Given the description of an element on the screen output the (x, y) to click on. 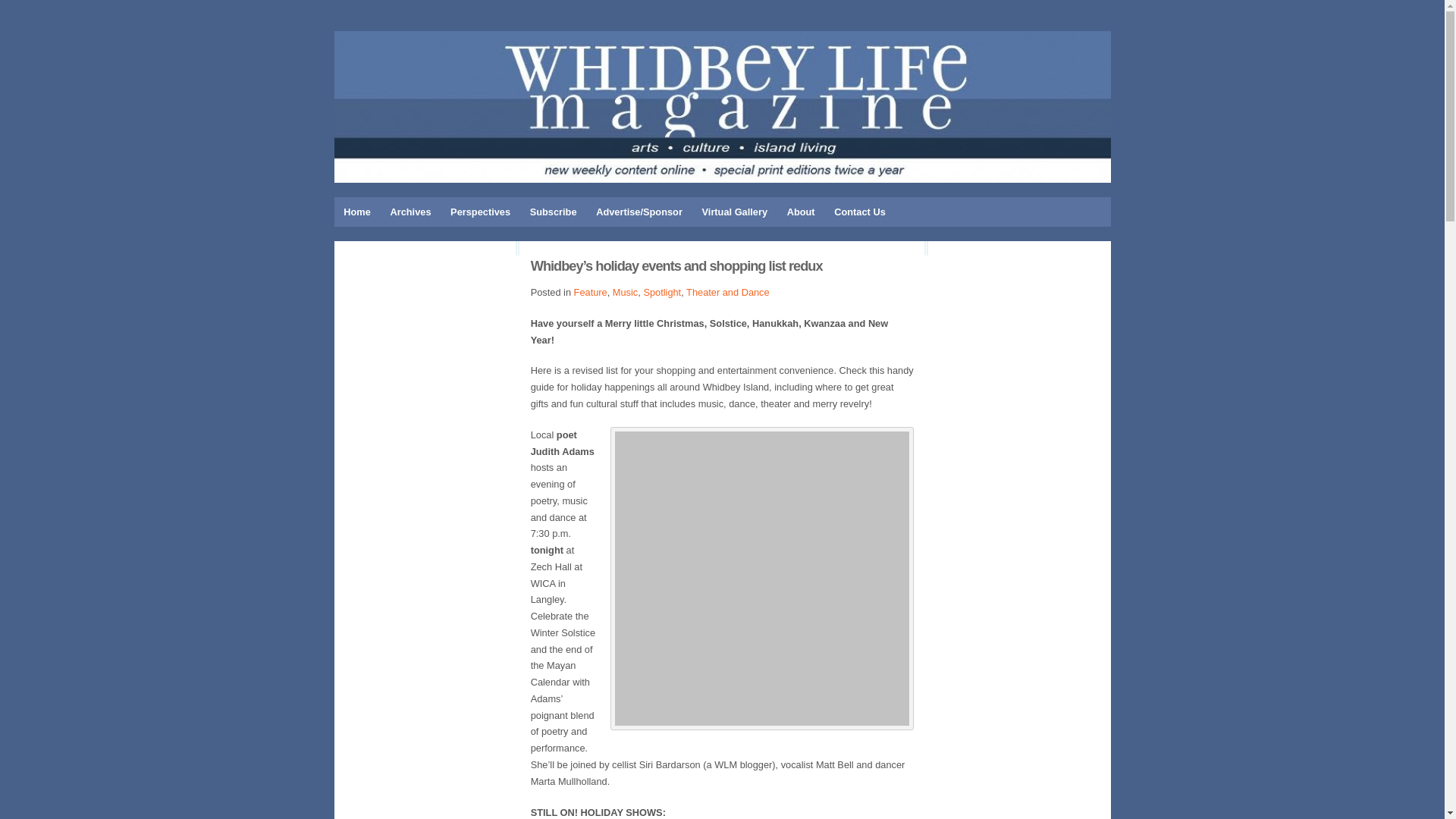
Contact Us (859, 211)
Feature (590, 292)
Perspectives (480, 211)
Archives (410, 211)
Home (356, 211)
Virtual Gallery (735, 211)
Subscribe (552, 211)
About (801, 211)
